Given the description of an element on the screen output the (x, y) to click on. 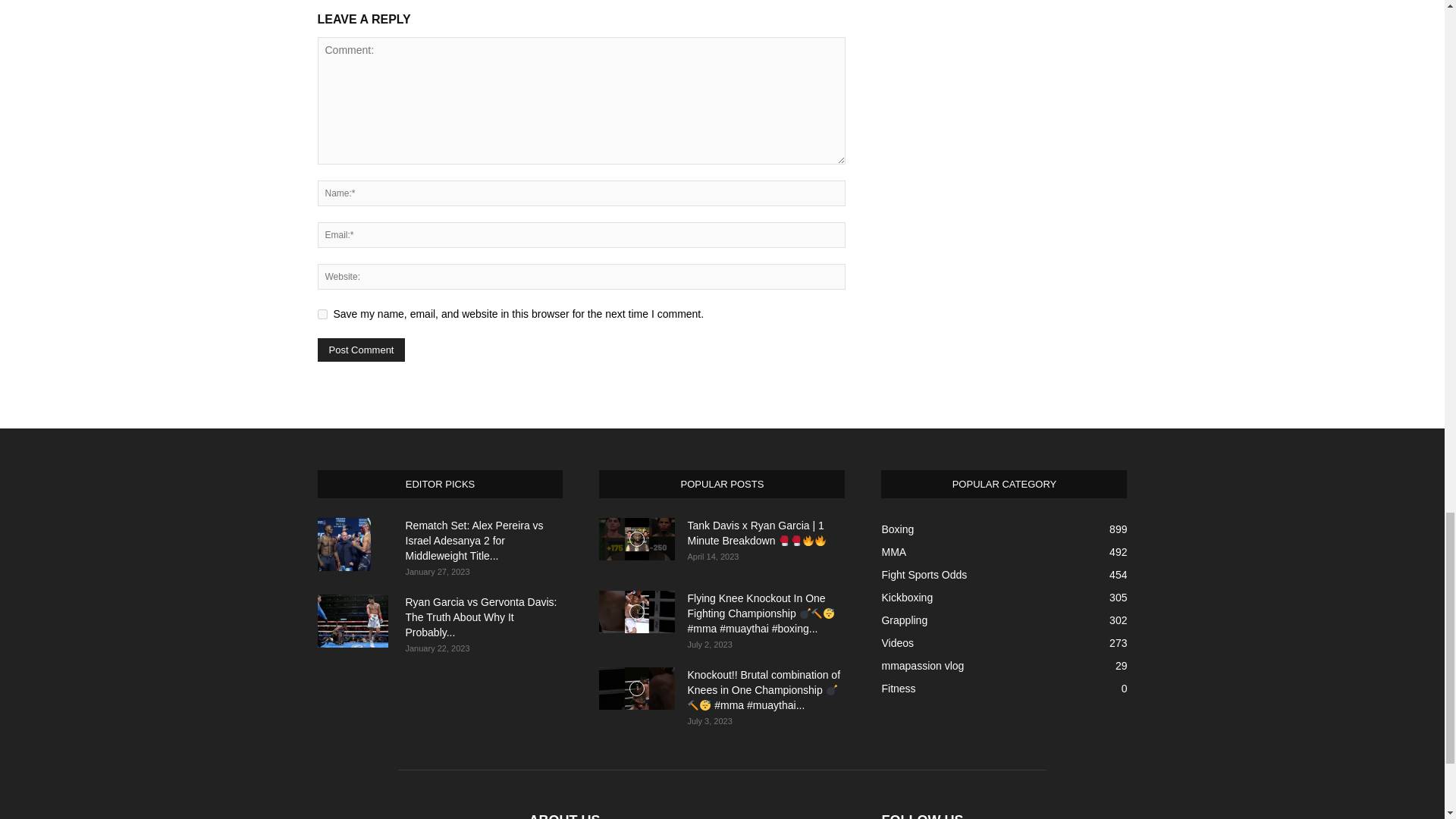
Post Comment (360, 349)
yes (321, 314)
